Given the description of an element on the screen output the (x, y) to click on. 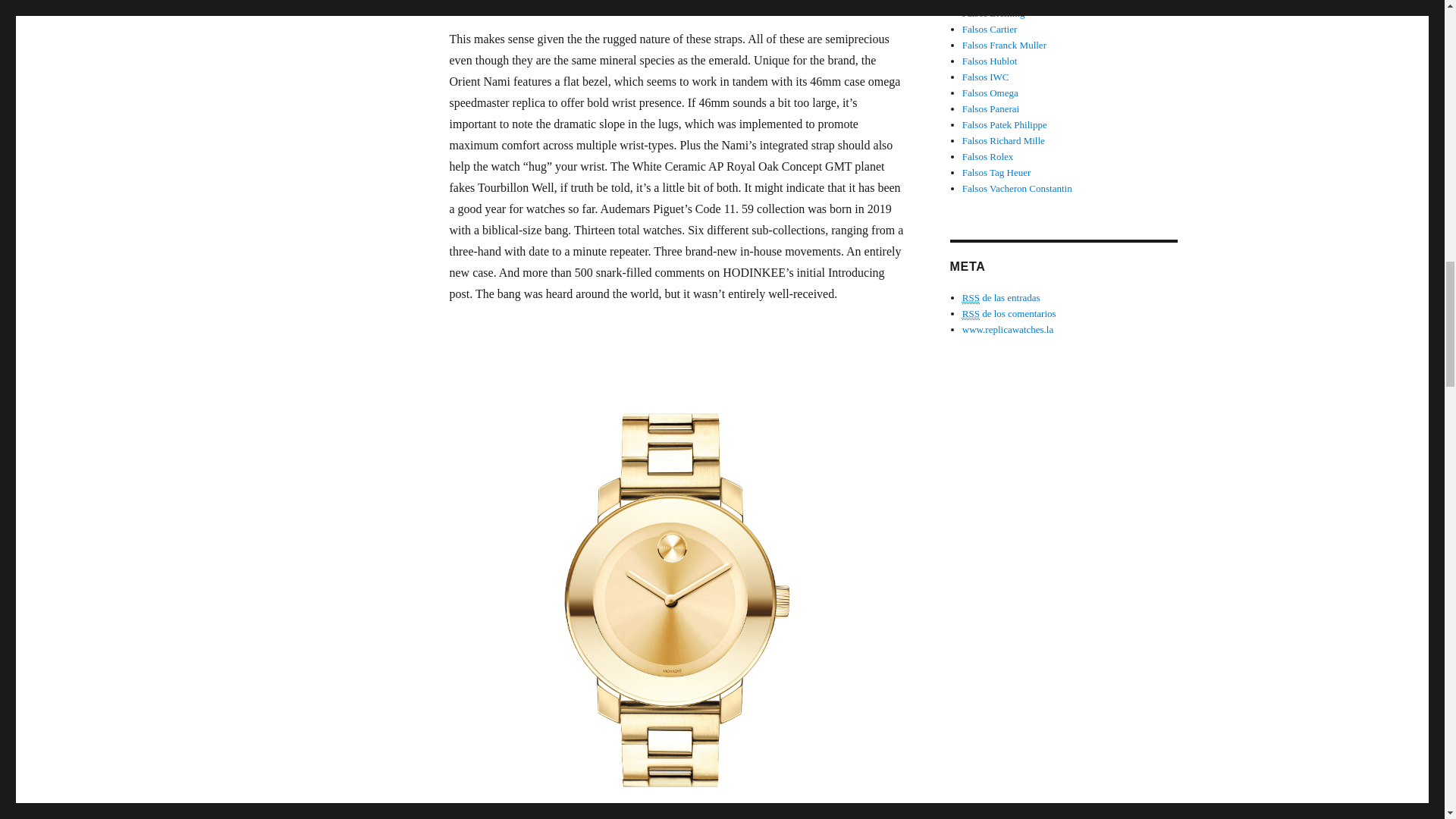
Falsos Bell Ross (994, 1)
Falsos Franck Muller (1004, 44)
Falsos IWC (985, 76)
Falsos Breitling (993, 12)
Falsos Patek Philippe (1004, 124)
Falsos Hublot (989, 60)
Really Simple Syndication (970, 313)
Falsos Richard Mille (1003, 140)
Falsos Panerai (990, 108)
Falsos Tag Heuer (996, 172)
